Given the description of an element on the screen output the (x, y) to click on. 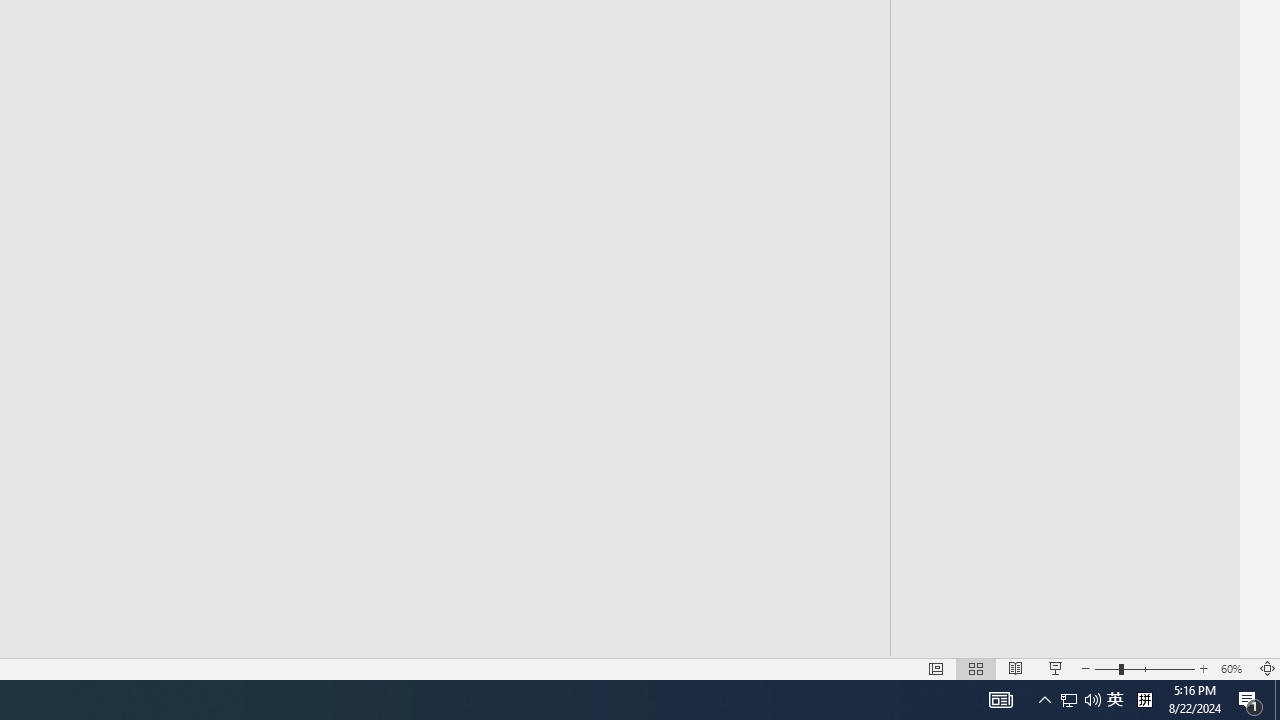
Zoom 60% (1234, 668)
